Given the description of an element on the screen output the (x, y) to click on. 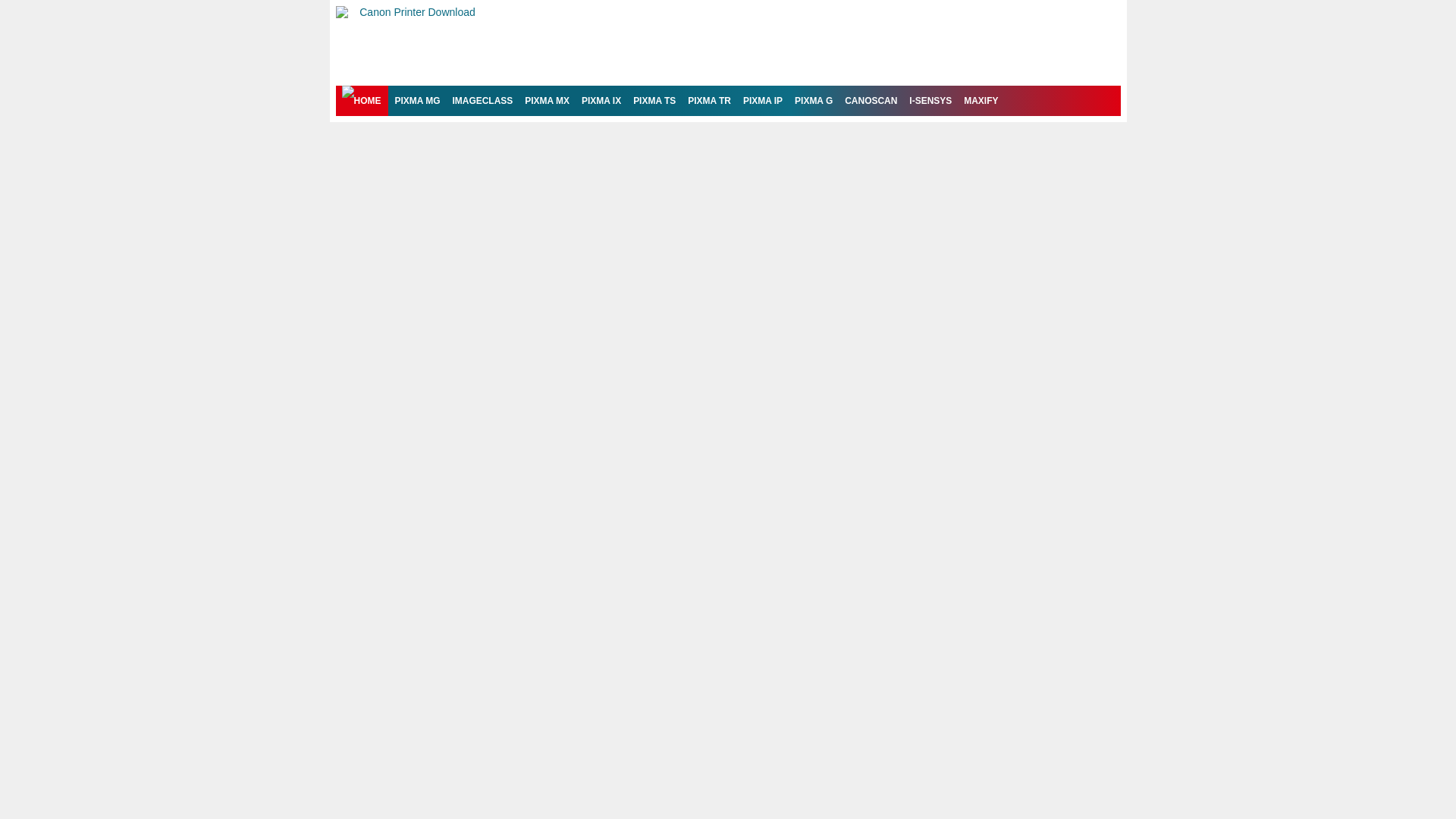
PIXMA MG (416, 100)
PIXMA MX (546, 100)
I-SENSYS (930, 100)
CANOSCAN (870, 100)
IMAGECLASS (481, 100)
PIXMA IX (601, 100)
MAXIFY (981, 100)
PIXMA G (813, 100)
PIXMA TR (708, 100)
PIXMA TS (654, 100)
